Given the description of an element on the screen output the (x, y) to click on. 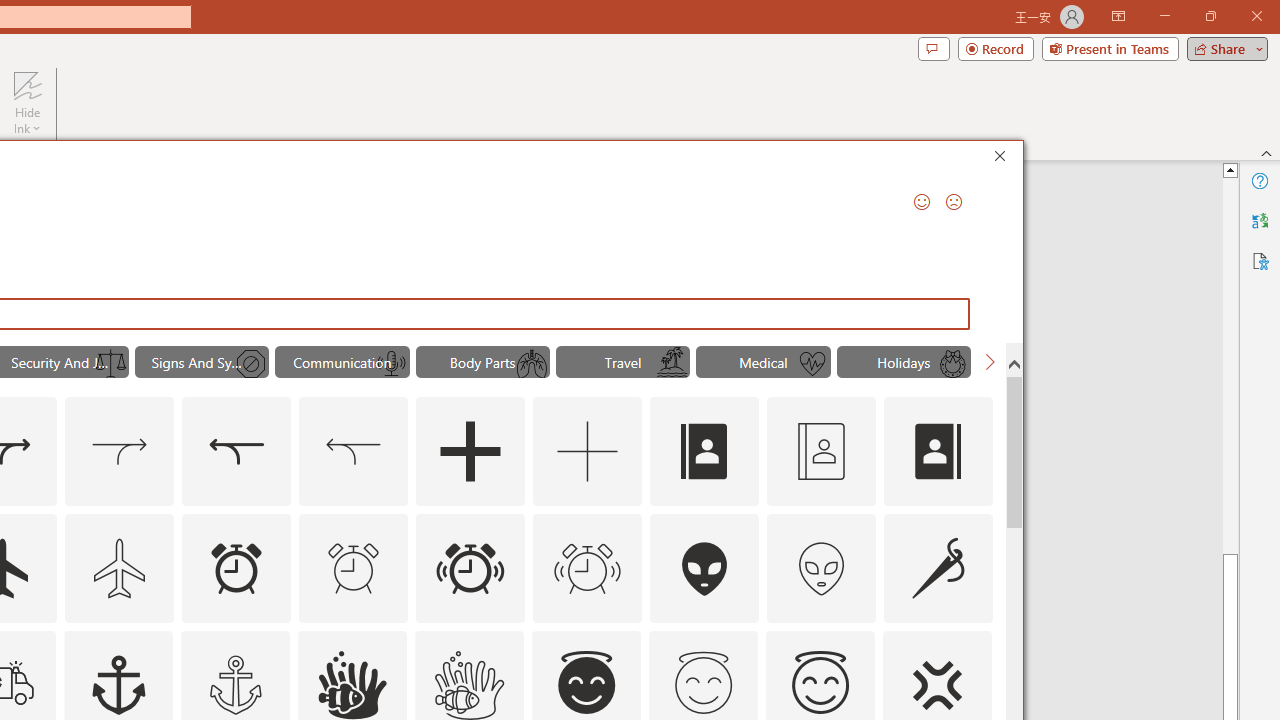
Thumbnail (977, 645)
AutomationID: Icons_Add (470, 452)
AutomationID: Icons_HeartWithPulse_M (812, 364)
AutomationID: Icons_Acquisition_RTL_M (353, 452)
AutomationID: Icons_Airplane_M (120, 568)
outline (820, 685)
AutomationID: Icons_TropicalScene_M (671, 364)
Send a Frown (954, 201)
